Given the description of an element on the screen output the (x, y) to click on. 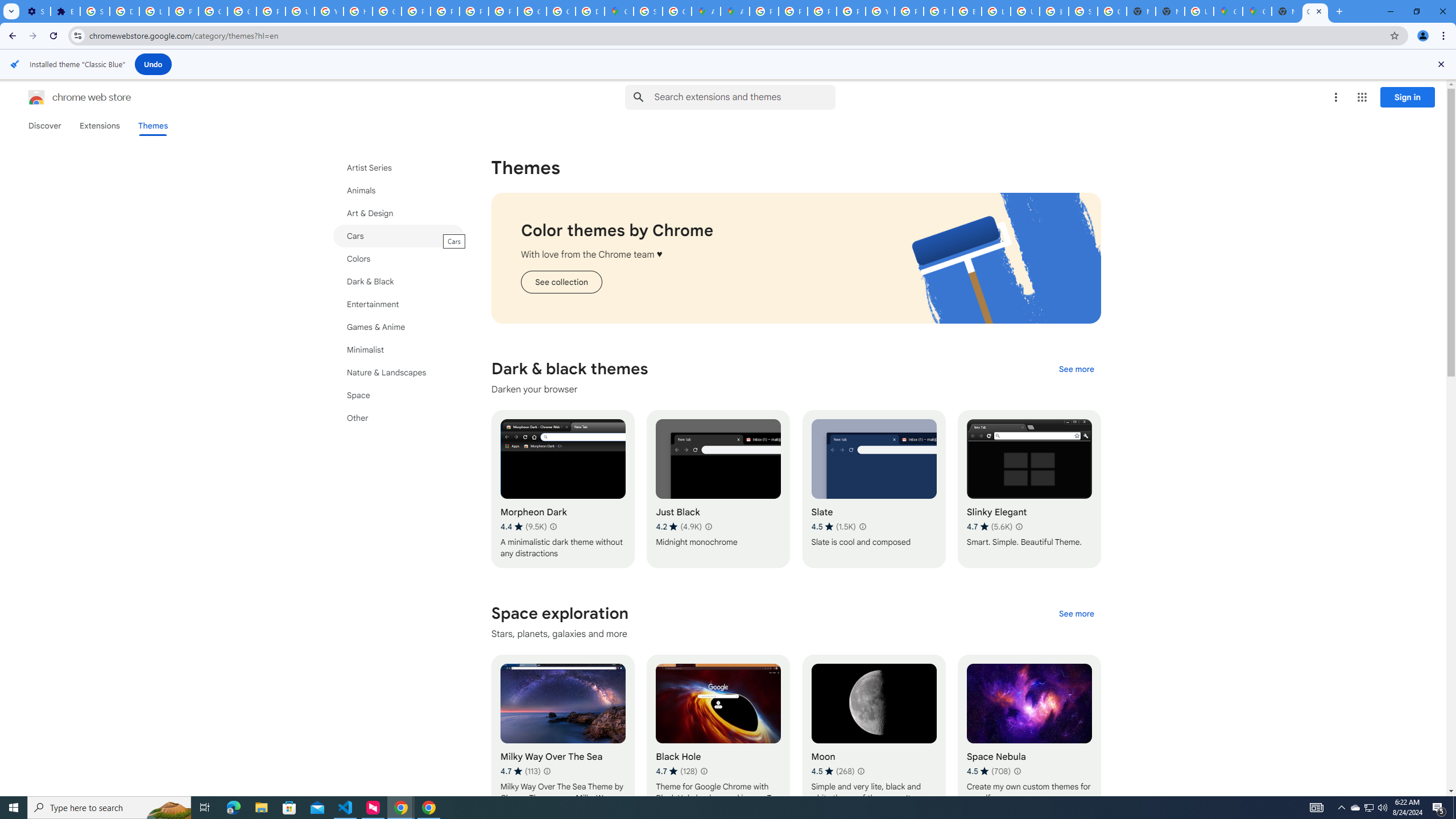
Average rating 4.7 out of 5 stars. 113 ratings. (519, 771)
Average rating 4.5 out of 5 stars. 708 ratings. (988, 771)
Dark & Black (398, 281)
Colors (398, 258)
Average rating 4.5 out of 5 stars. 268 ratings. (832, 771)
Average rating 4.2 out of 5 stars. 4.9K ratings. (678, 526)
Learn more about results and reviews "Moon" (860, 771)
Art & Design (398, 213)
Milky Way Over The Sea (562, 733)
YouTube (327, 11)
